Given the description of an element on the screen output the (x, y) to click on. 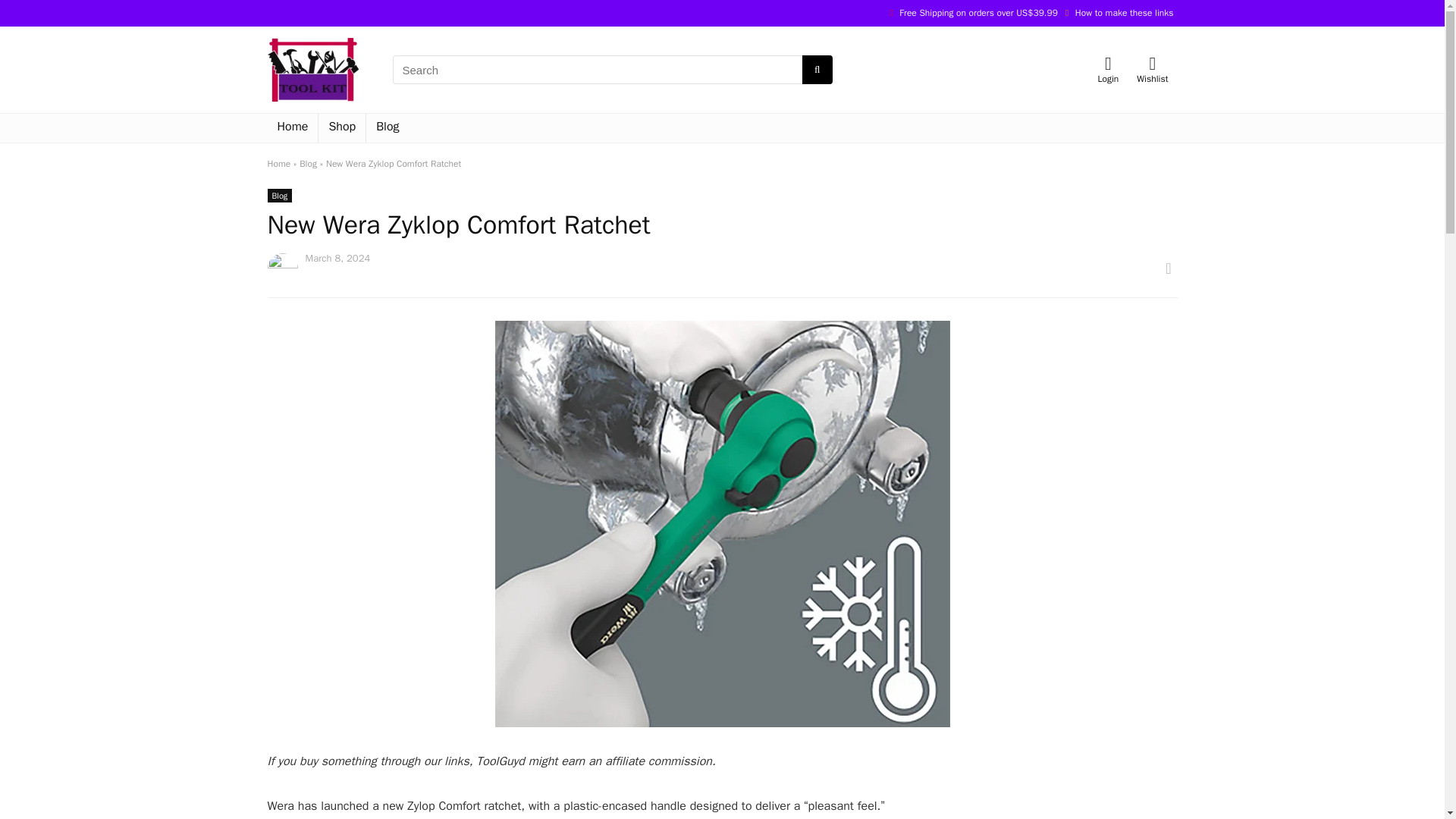
Blog (279, 195)
Blog (308, 163)
Blog (387, 127)
Shop (341, 127)
Home (277, 163)
How to make these links (1124, 12)
Home (291, 127)
View all posts in Blog (279, 195)
